Given the description of an element on the screen output the (x, y) to click on. 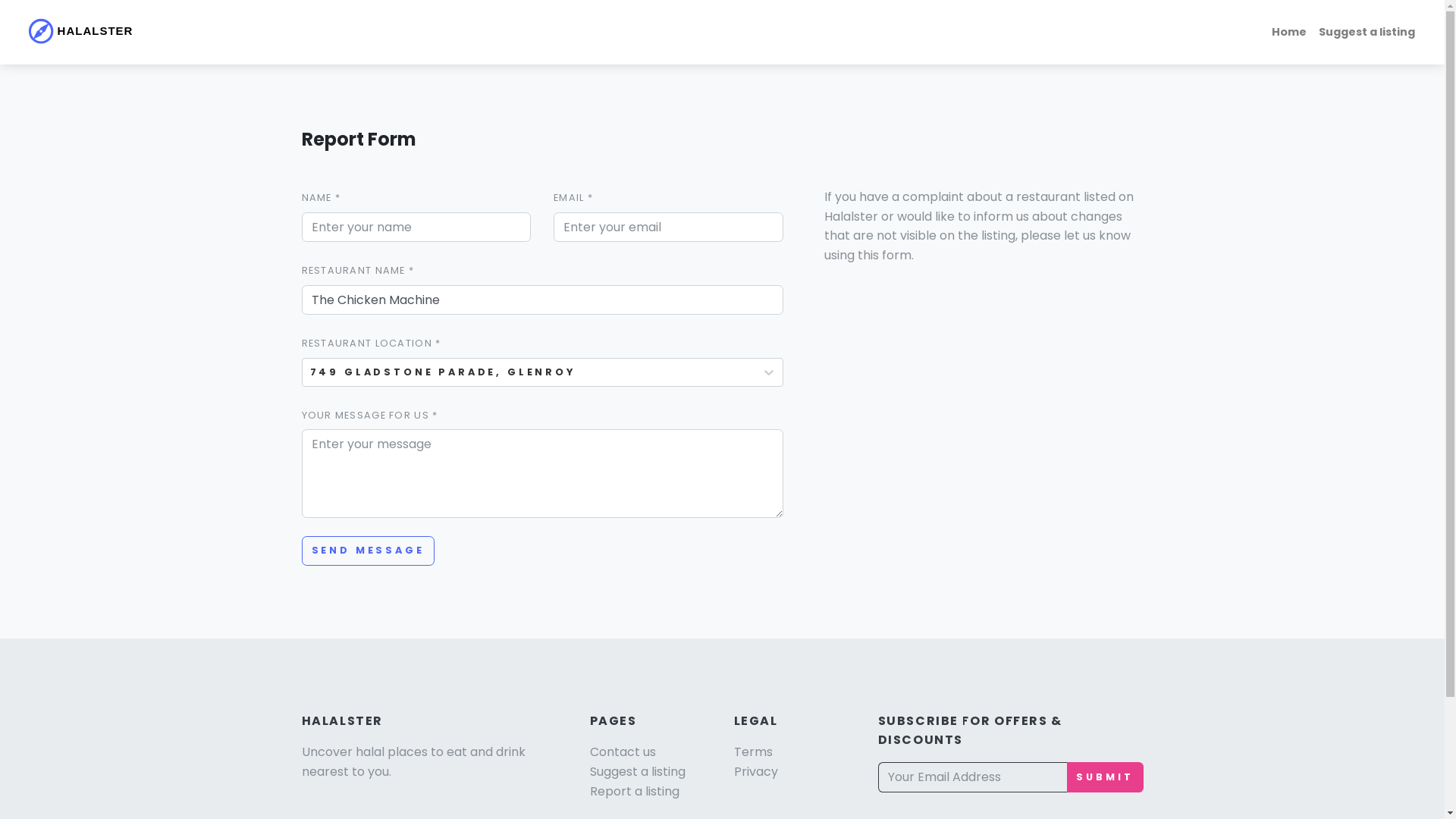
Suggest a listing Element type: text (1366, 32)
Terms Element type: text (753, 751)
Report a listing Element type: text (634, 791)
SUBMIT Element type: text (1104, 777)
Home Element type: text (1288, 32)
Privacy Element type: text (756, 771)
Suggest a listing Element type: text (637, 771)
SEND MESSAGE Element type: text (367, 550)
Contact us Element type: text (622, 751)
